Given the description of an element on the screen output the (x, y) to click on. 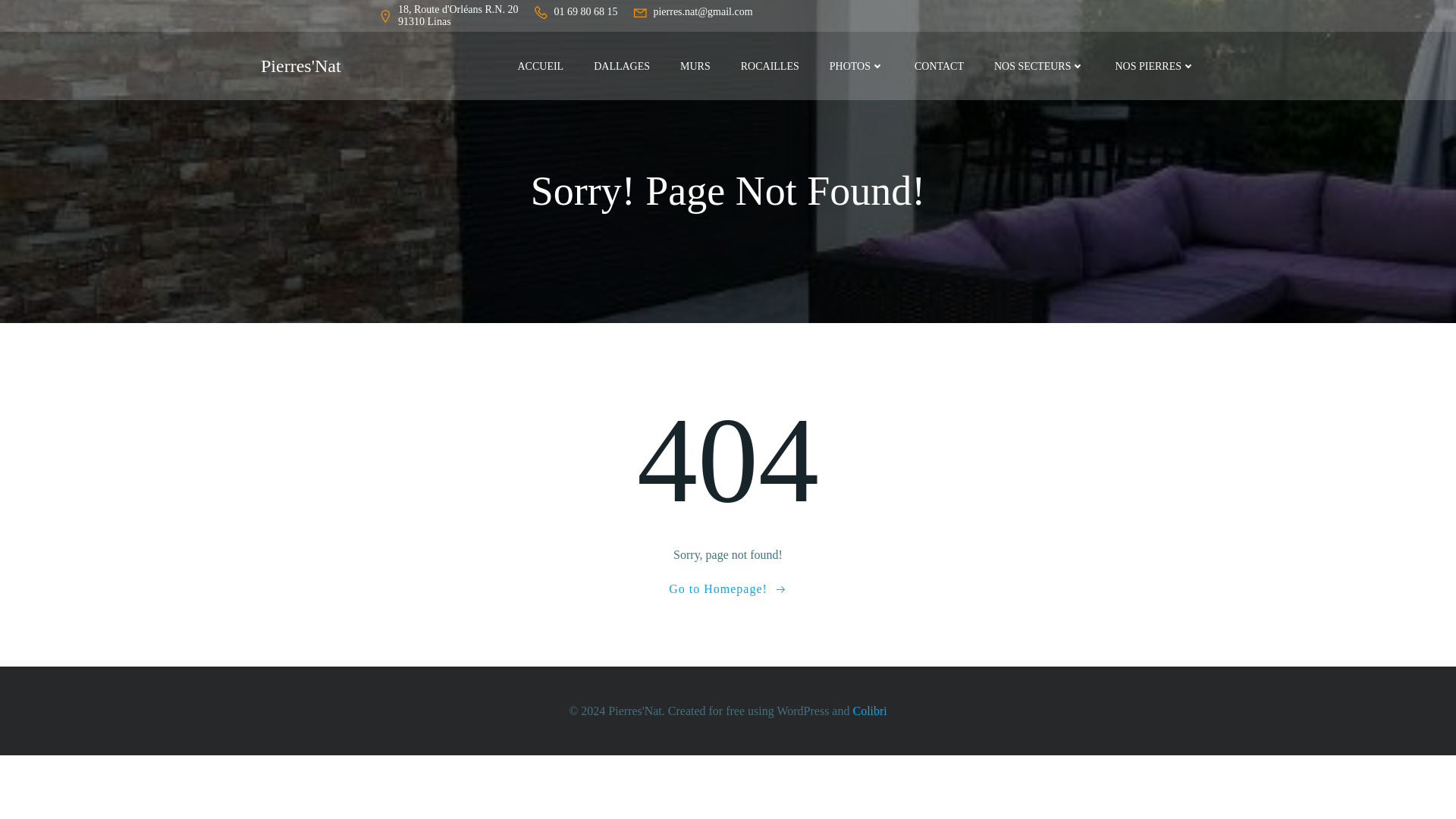
NOS SECTEURS (1039, 65)
Go to Homepage! (727, 588)
MURS (694, 65)
NOS PIERRES (1155, 65)
ROCAILLES (770, 65)
Pierres'Nat (300, 65)
CONTACT (938, 65)
PHOTOS (856, 65)
DALLAGES (621, 65)
01 69 80 68 15 (574, 15)
Colibri (868, 709)
ACCUEIL (539, 65)
